Given the description of an element on the screen output the (x, y) to click on. 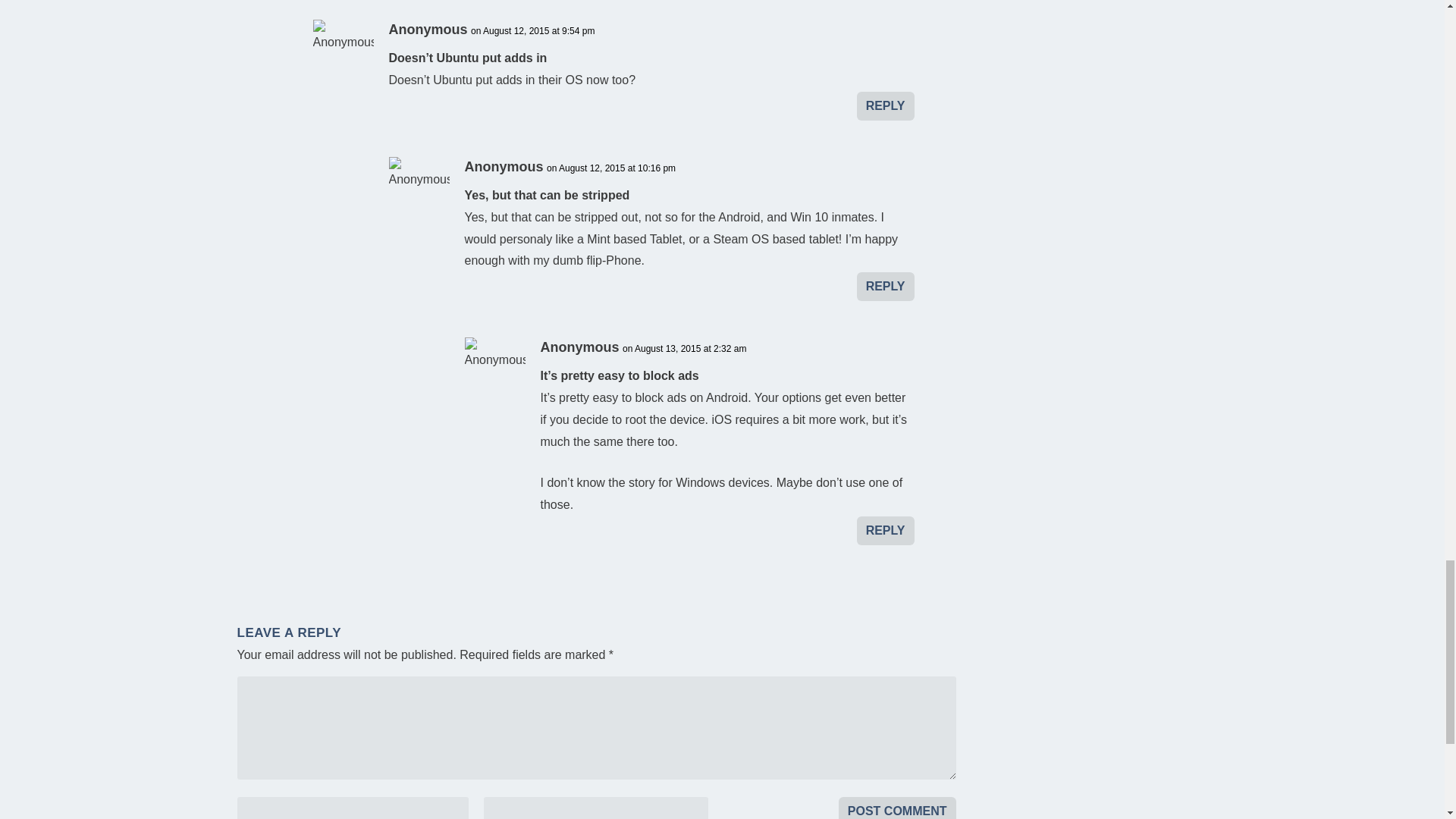
Post Comment (897, 807)
